Given the description of an element on the screen output the (x, y) to click on. 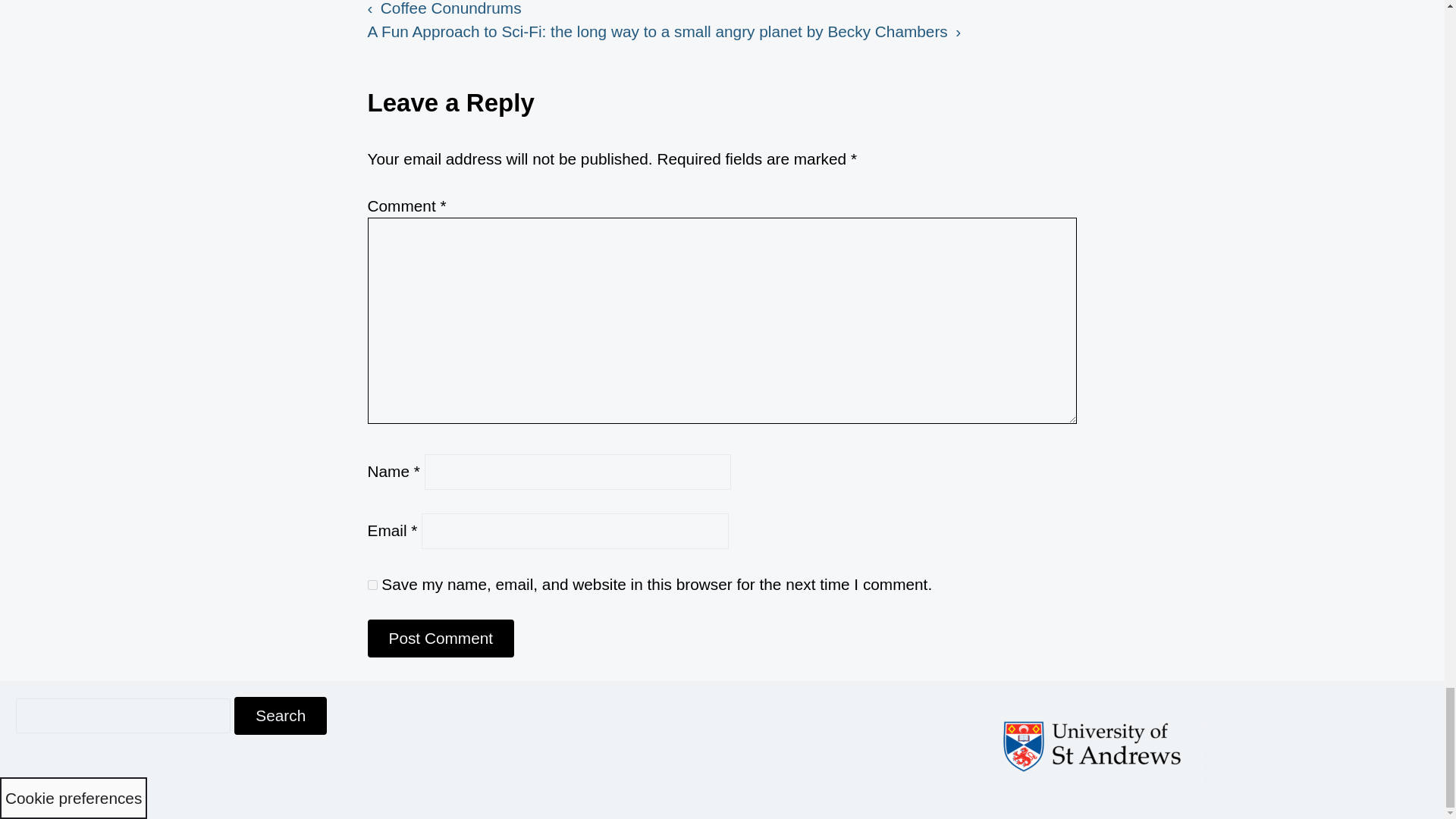
Post Comment (441, 638)
Search (280, 715)
yes (372, 584)
